Given the description of an element on the screen output the (x, y) to click on. 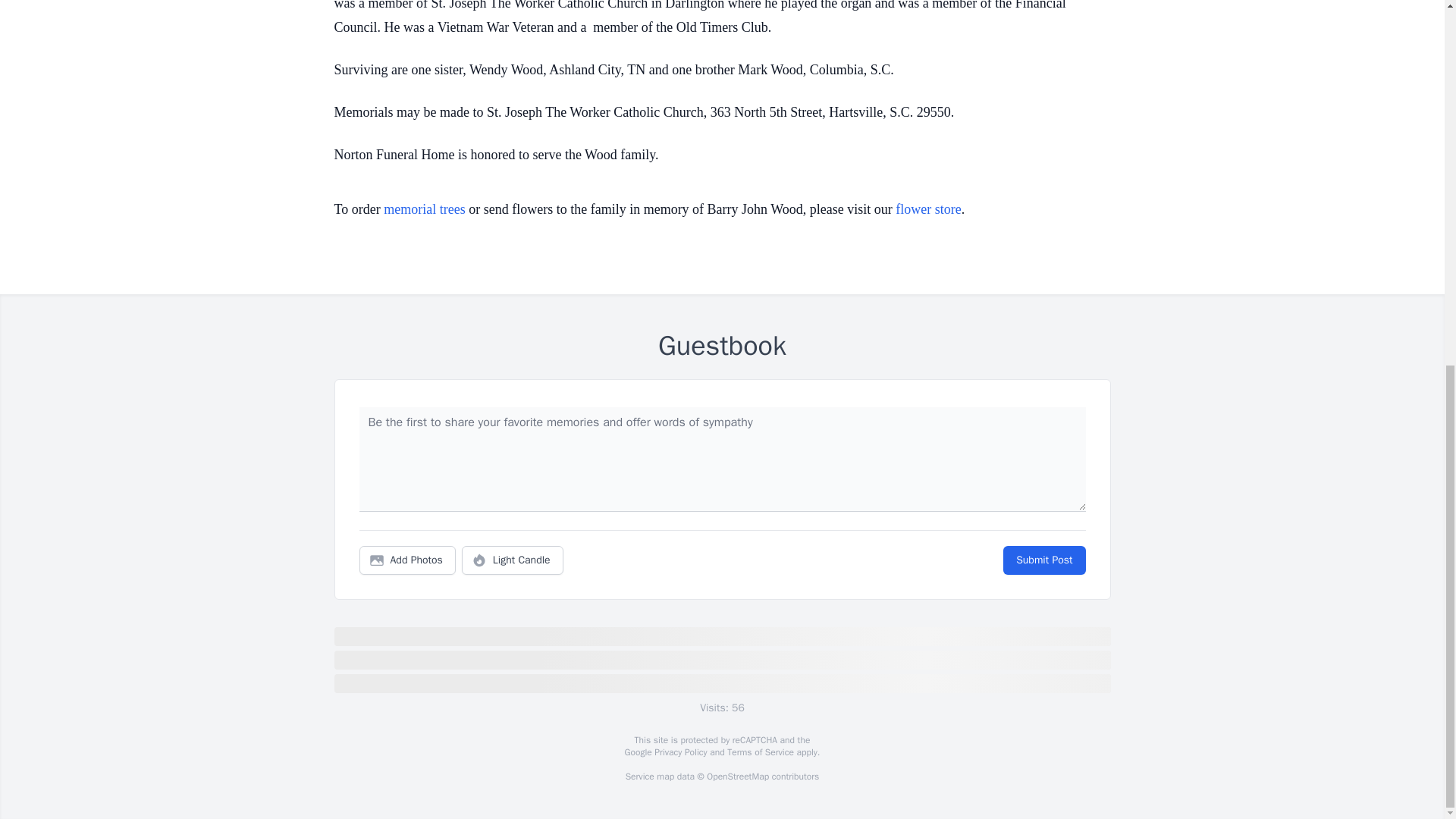
OpenStreetMap (737, 776)
memorial trees (424, 209)
Submit Post (1043, 560)
Privacy Policy (679, 752)
Terms of Service (759, 752)
Light Candle (512, 560)
flower store (927, 209)
Add Photos (407, 560)
